Given the description of an element on the screen output the (x, y) to click on. 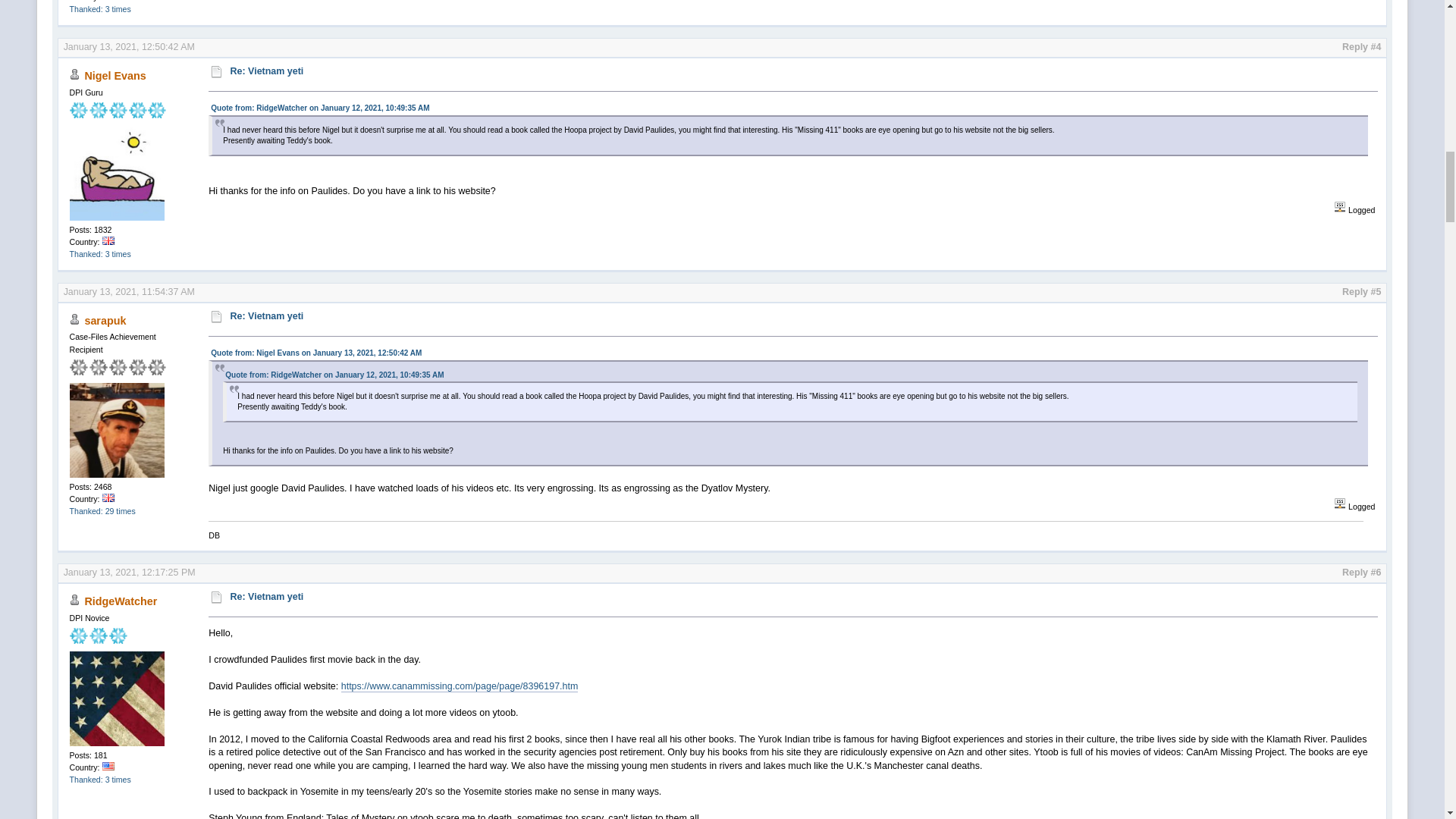
View the profile of sarapuk (104, 319)
View the profile of Nigel Evans (114, 75)
United Kingdom (108, 240)
